Given the description of an element on the screen output the (x, y) to click on. 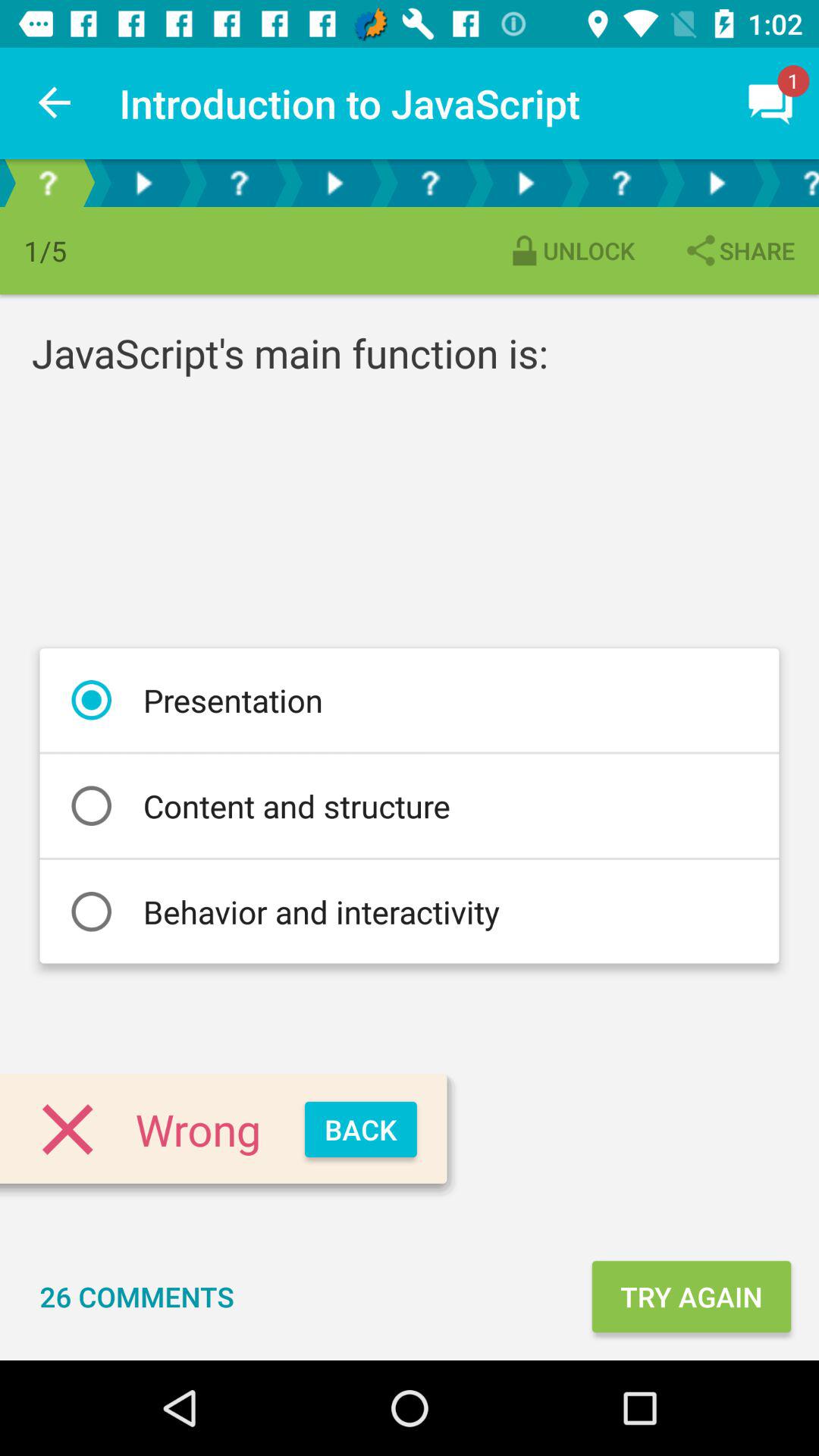
launch item next to the introduction to javascript icon (55, 103)
